Given the description of an element on the screen output the (x, y) to click on. 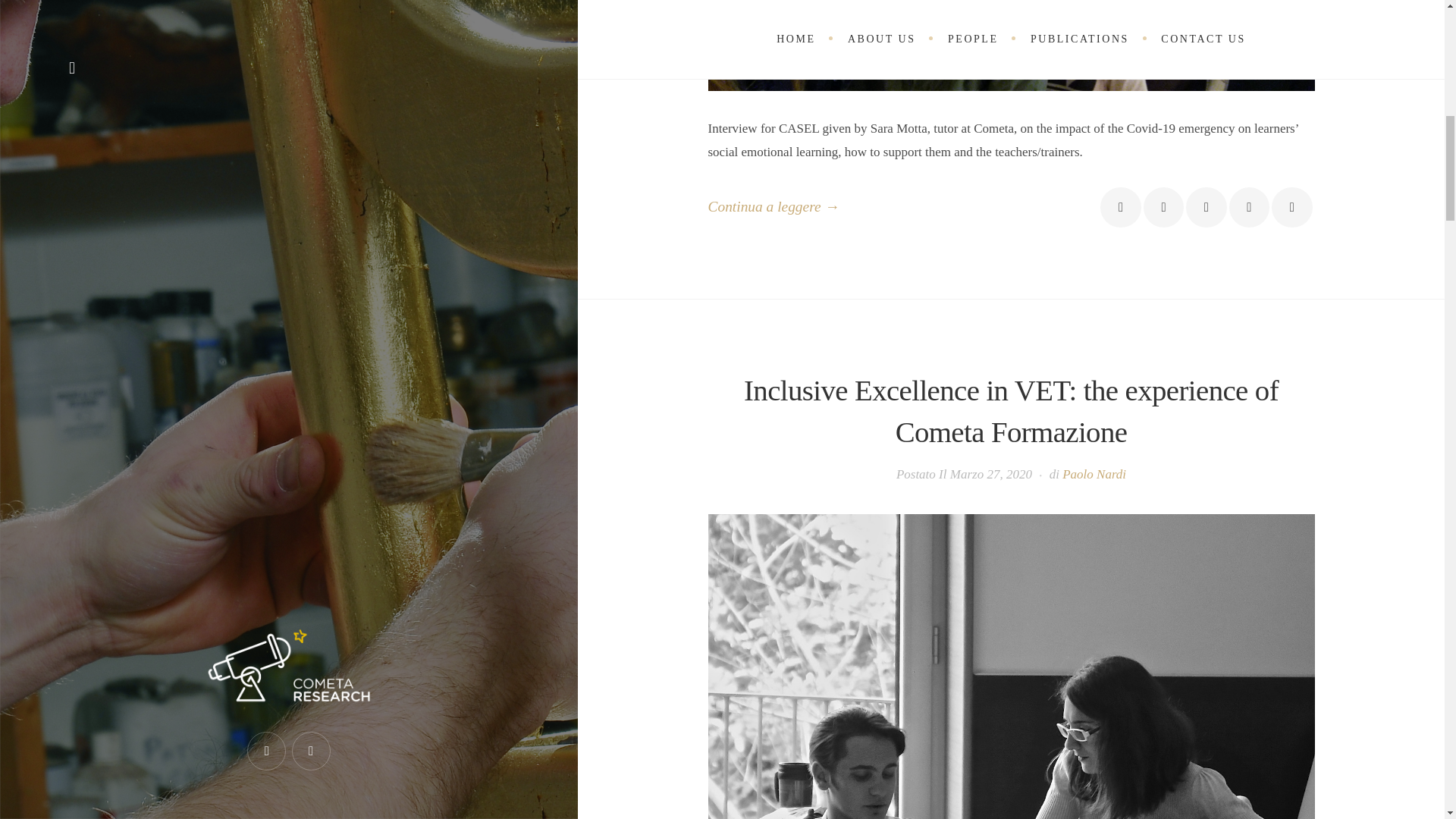
Tweet It (1162, 207)
Condividi su Google Plus (1205, 207)
Paolo Nardi (1093, 473)
Condividi su Tumblr (1291, 207)
Condividi su Facebook (1120, 207)
Pin It (1248, 207)
